Given the description of an element on the screen output the (x, y) to click on. 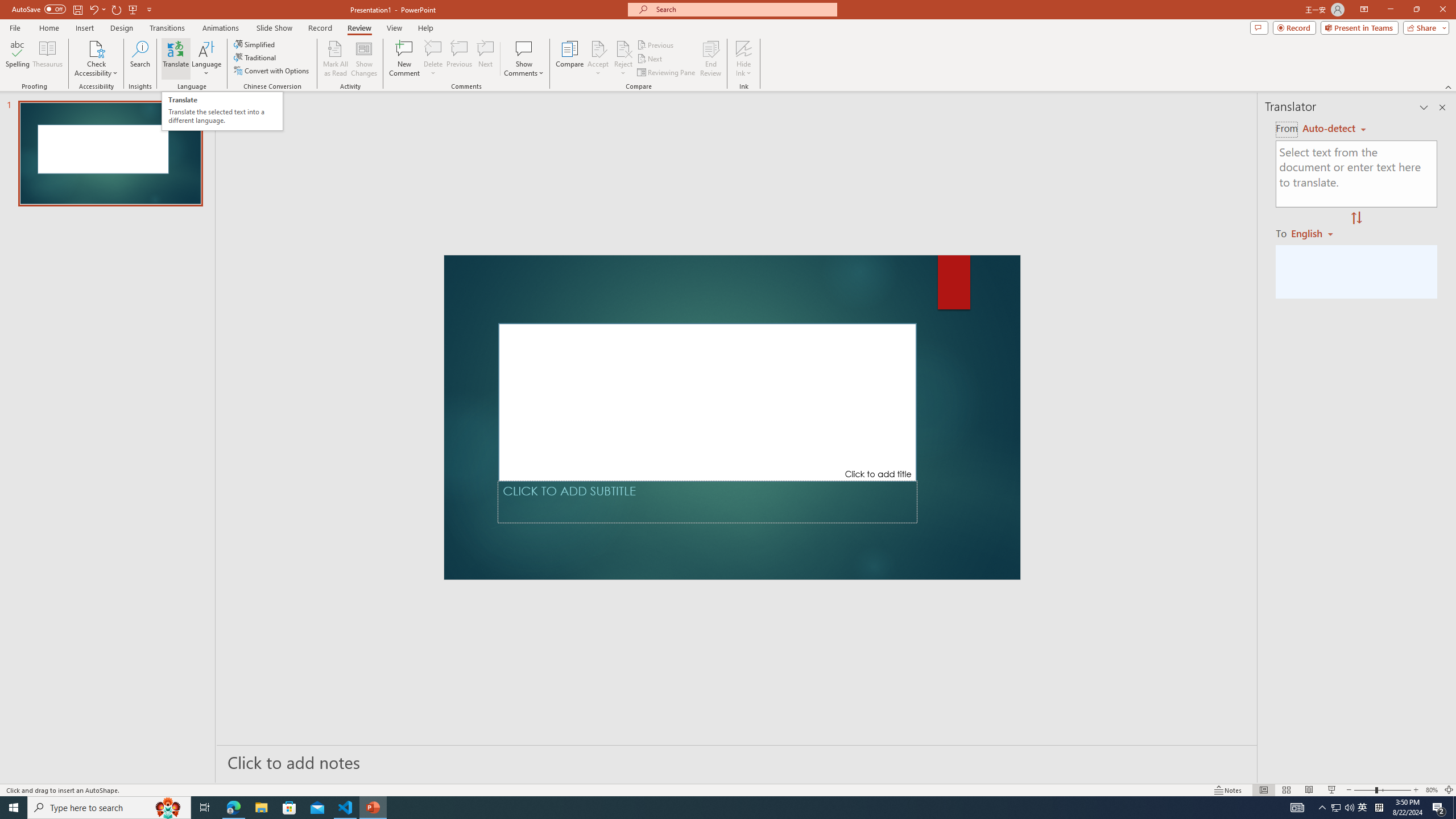
Reviewing Pane (666, 72)
Thesaurus... (47, 58)
Translate (175, 58)
Swap "from" and "to" languages. (1355, 218)
